Given the description of an element on the screen output the (x, y) to click on. 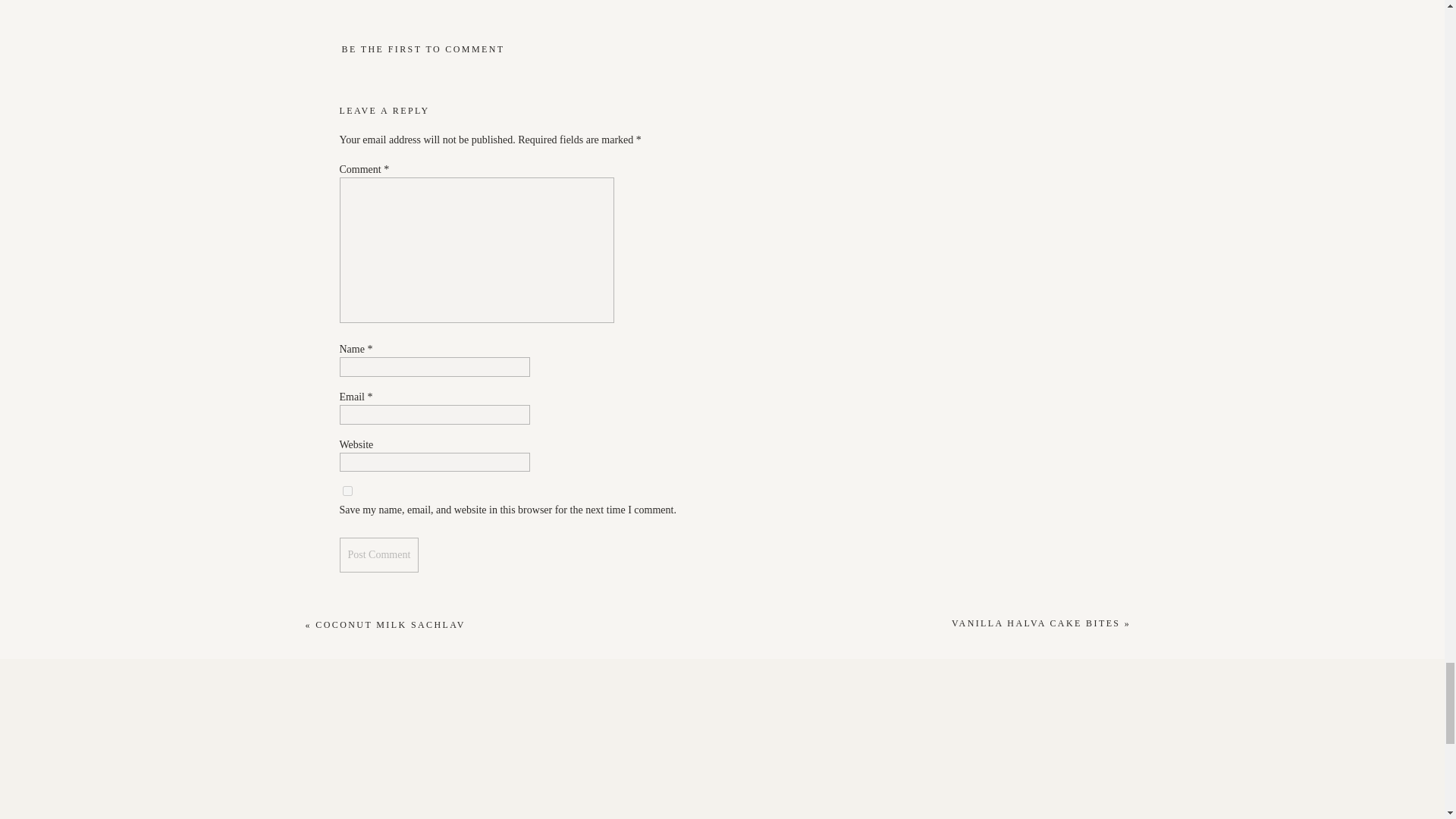
VANILLA HALVA CAKE BITES (1035, 623)
Post Comment (379, 554)
BE THE FIRST TO COMMENT (421, 49)
yes (347, 491)
COCONUT MILK SACHLAV (390, 624)
Post Comment (379, 554)
